Given the description of an element on the screen output the (x, y) to click on. 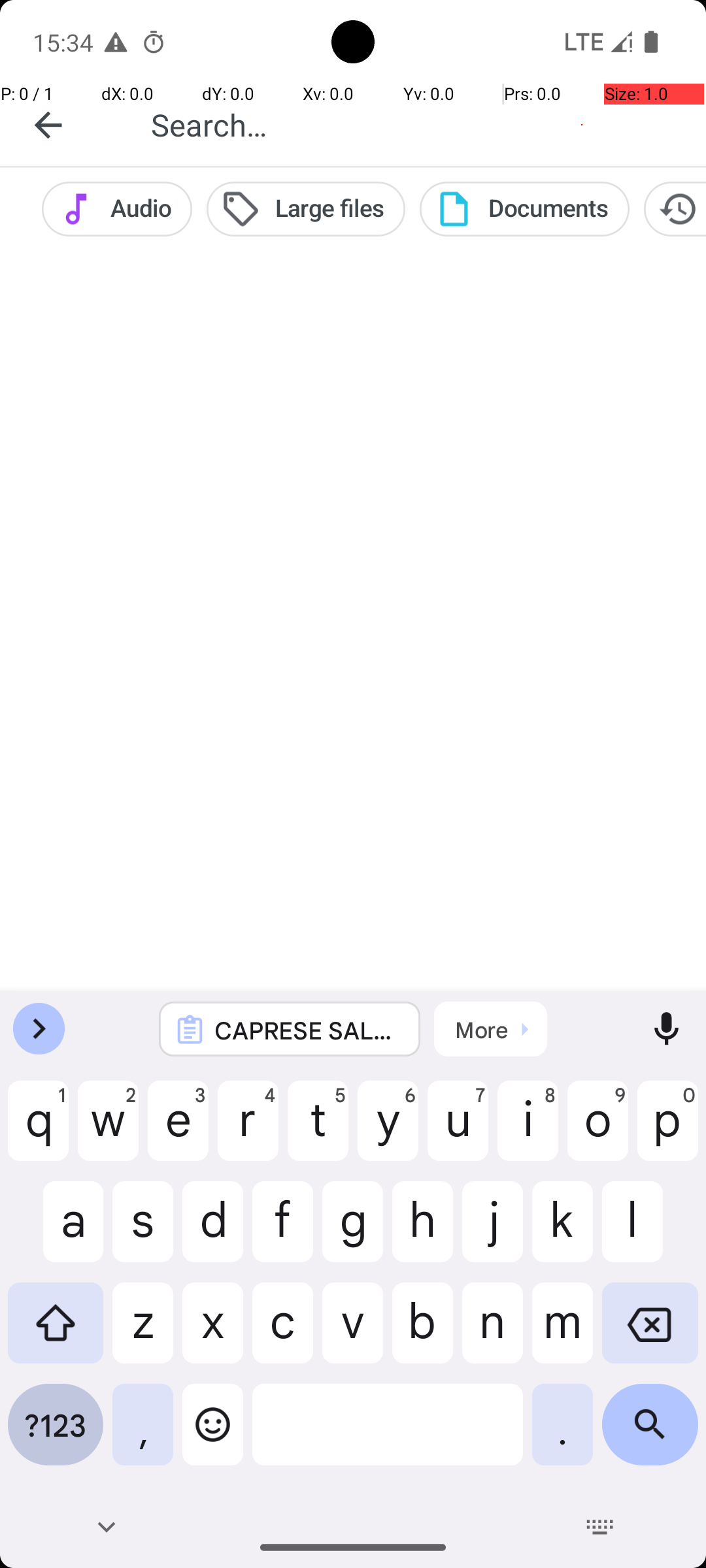
CAPRESE SALAD SKEWERS  Servings: 1 serving Time: 45 mins  A quick and easy meal, perfect for busy weekdays.  Ingredients: - n/a  Directions: 1. Thread cherry tomatoes, basil leaves, and mozzarella balls onto skewers. Drizzle with balsamic glaze. Feel free to substitute with ingredients you have on hand.  Shared with https://play.google.com/store/apps/details?id=com.flauschcode.broccoli Element type: android.widget.TextView (306, 1029)
